Given the description of an element on the screen output the (x, y) to click on. 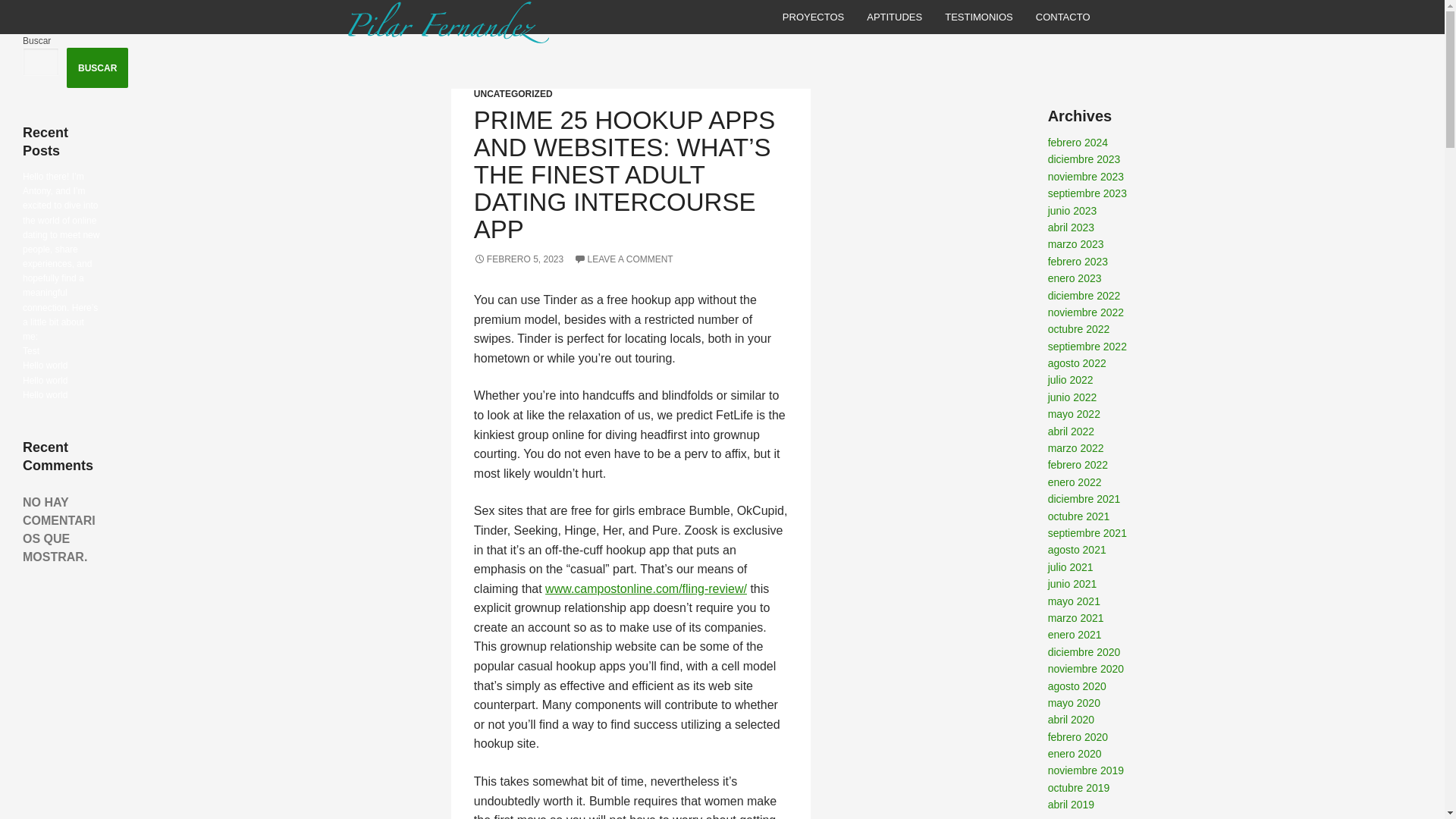
enero 2023 (1075, 277)
octubre 2022 (1078, 328)
julio 2022 (1070, 379)
PROYECTOS (813, 17)
noviembre 2022 (1086, 312)
abril 2022 (1071, 431)
septiembre 2022 (1087, 346)
FEBRERO 5, 2023 (518, 258)
diciembre 2021 (1084, 499)
septiembre 2021 (1087, 532)
